Given the description of an element on the screen output the (x, y) to click on. 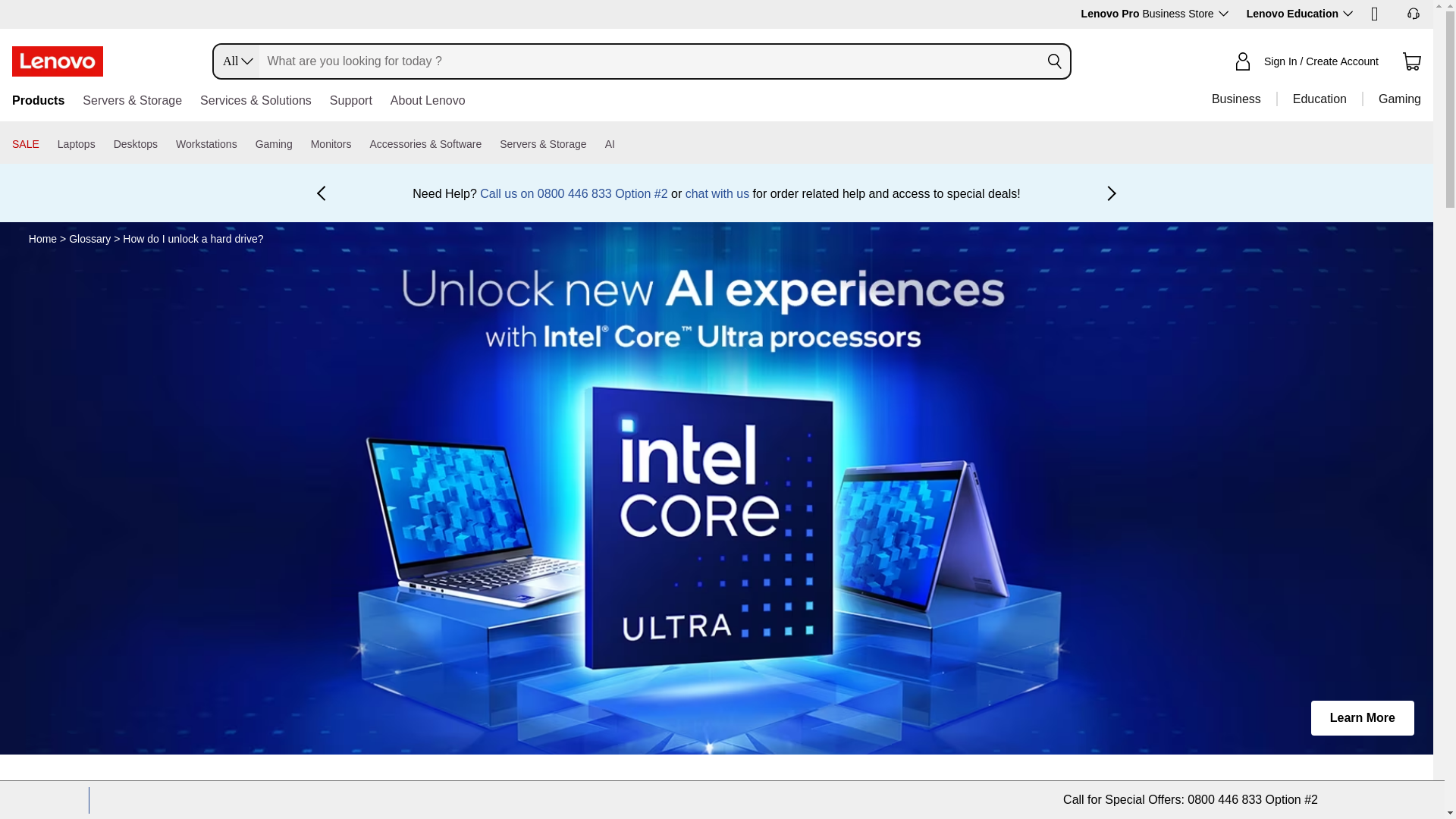
Lenovo Pro Business Store (1154, 13)
Education (1318, 98)
Workstations (206, 144)
All (230, 60)
Laptops (77, 144)
Lenovo Education (1299, 13)
Monitors (331, 144)
Support (351, 102)
Business (1236, 98)
SALE (25, 144)
